Given the description of an element on the screen output the (x, y) to click on. 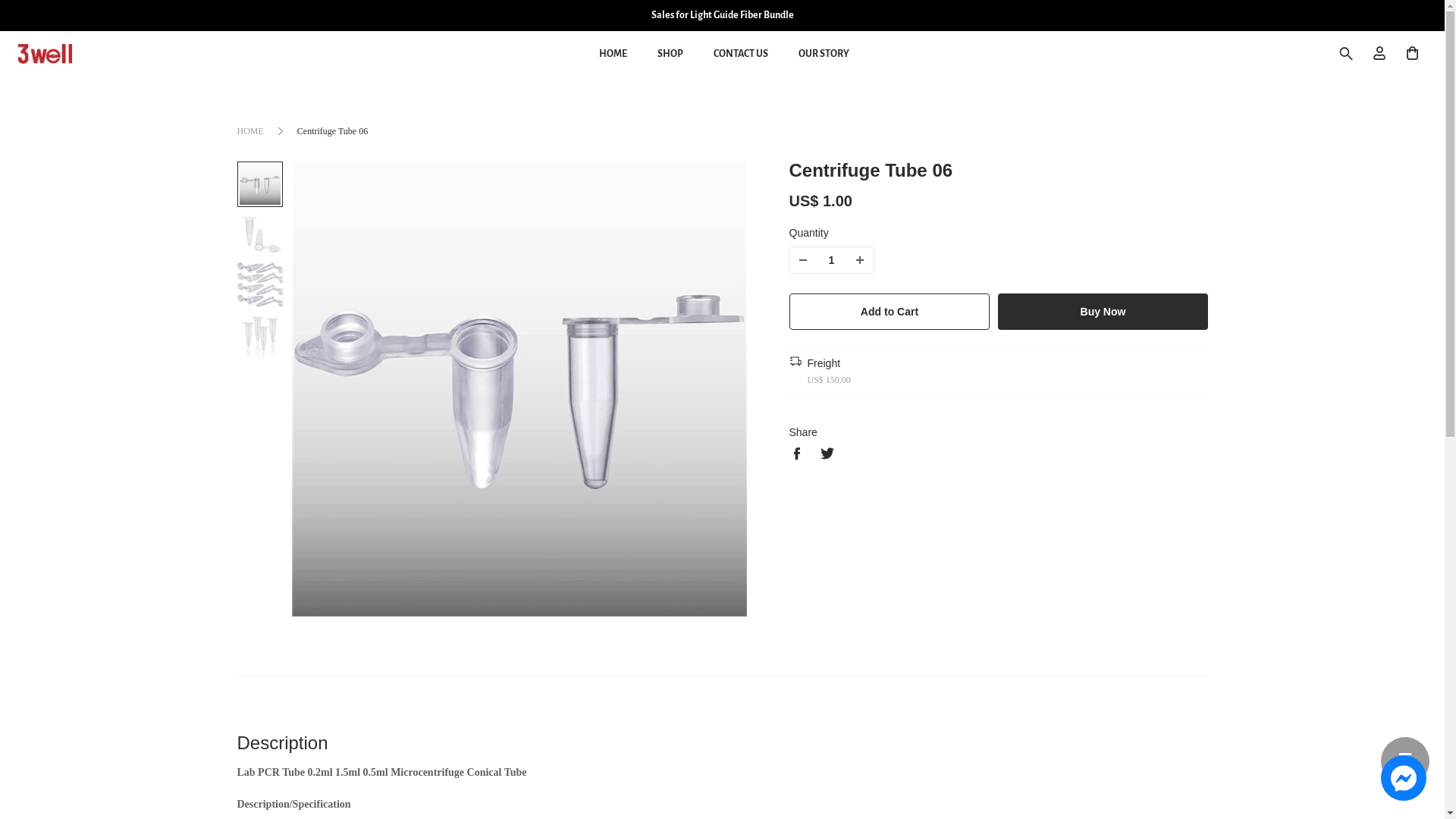
Add to Cart Element type: text (888, 311)
HOME Element type: text (249, 131)
HOME Element type: text (613, 53)
Buy Now Element type: text (1102, 311)
OUR STORY Element type: text (822, 53)
+ Element type: text (859, 259)
Sales for Operation Channel Element type: text (721, 14)
SHOP Element type: text (669, 53)
CONTACT US Element type: text (739, 53)
